Given the description of an element on the screen output the (x, y) to click on. 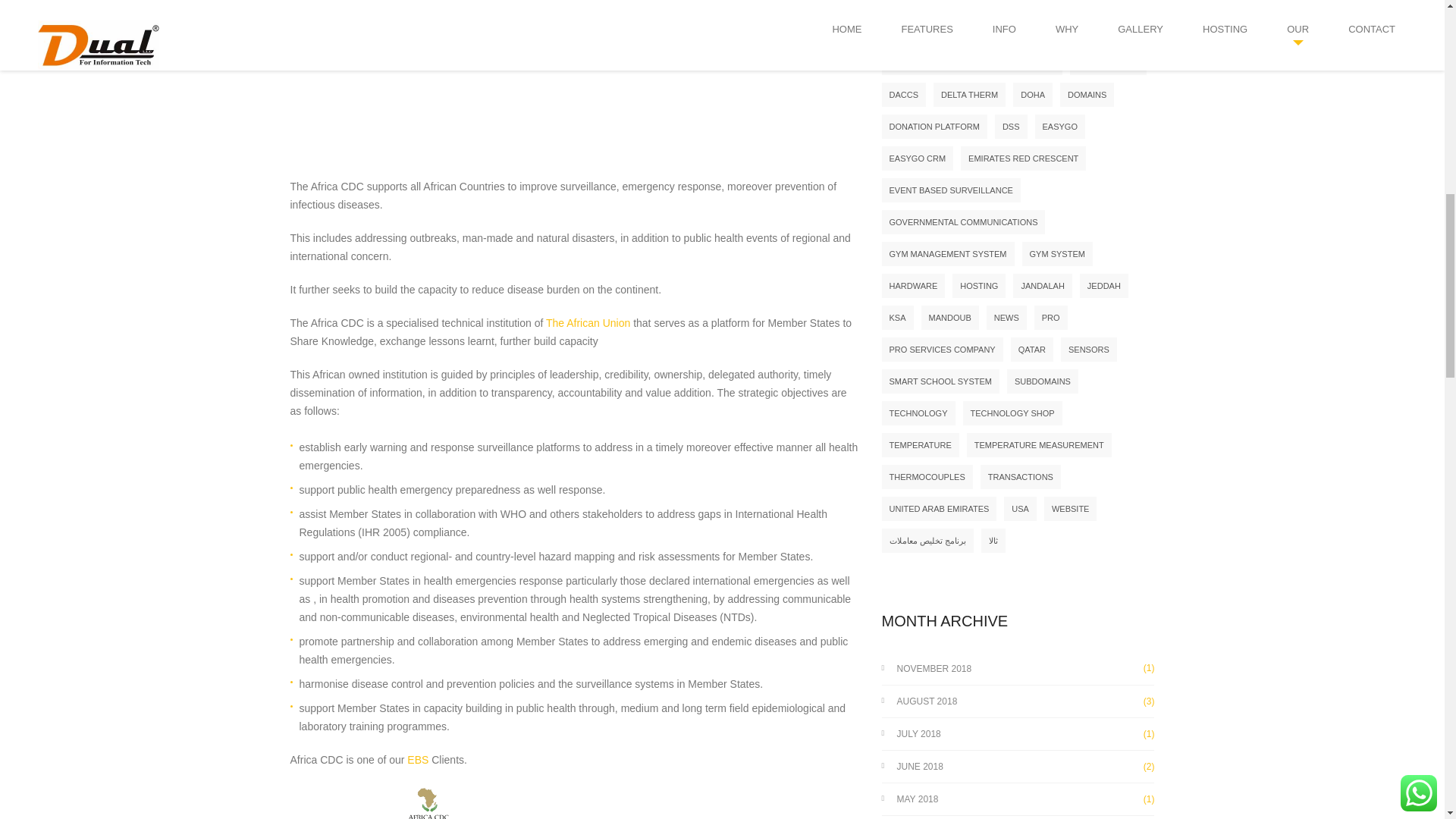
The African Union (588, 322)
EBS (417, 759)
